Given the description of an element on the screen output the (x, y) to click on. 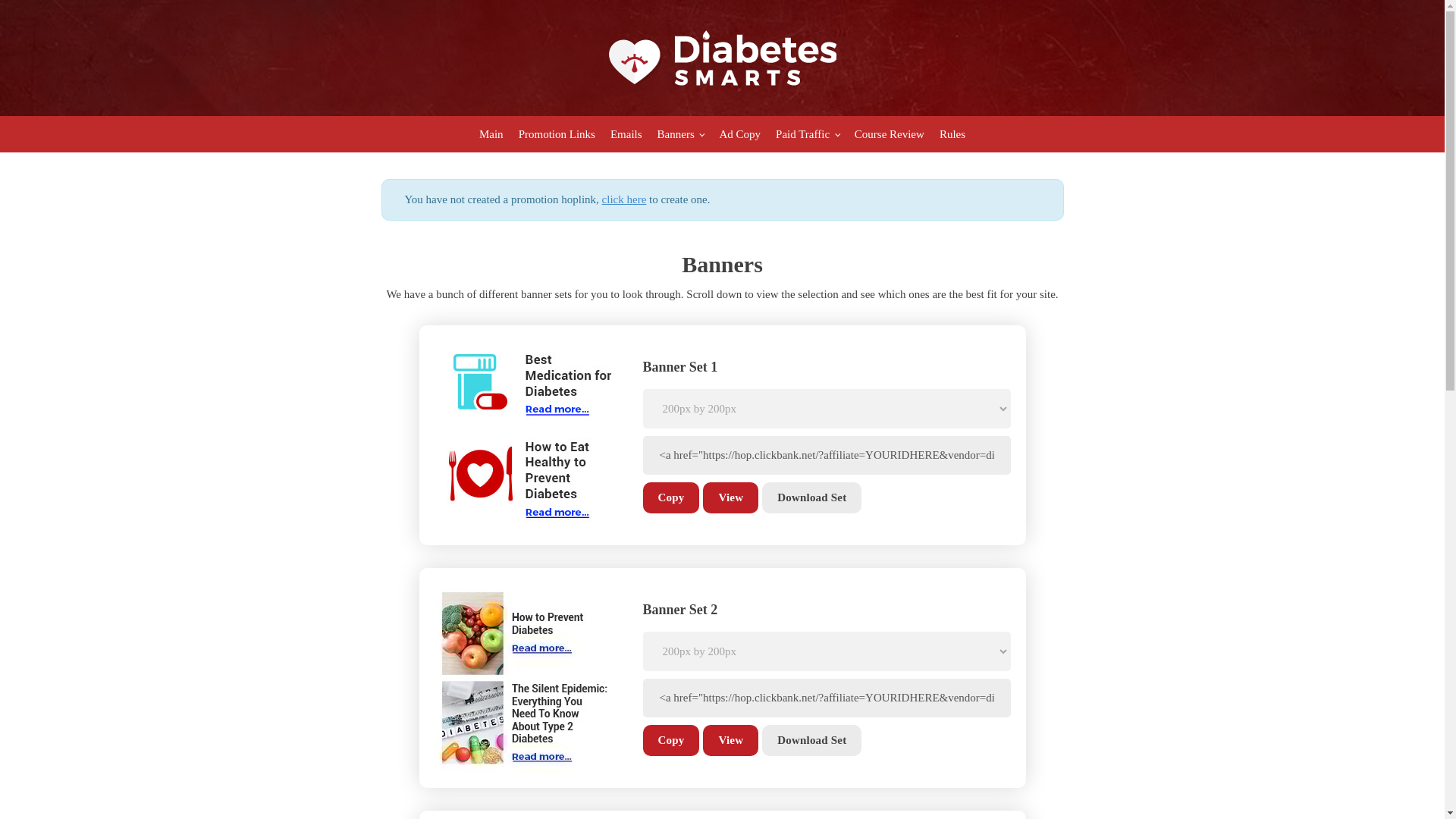
View (730, 739)
Course Review (889, 134)
Download Set (811, 739)
Main (491, 134)
View (730, 497)
Copy (671, 739)
Ad Copy (739, 134)
Promotion Links (556, 134)
click here (624, 199)
Copy (671, 497)
Download Set (811, 497)
Rules (951, 134)
Emails (625, 134)
